Given the description of an element on the screen output the (x, y) to click on. 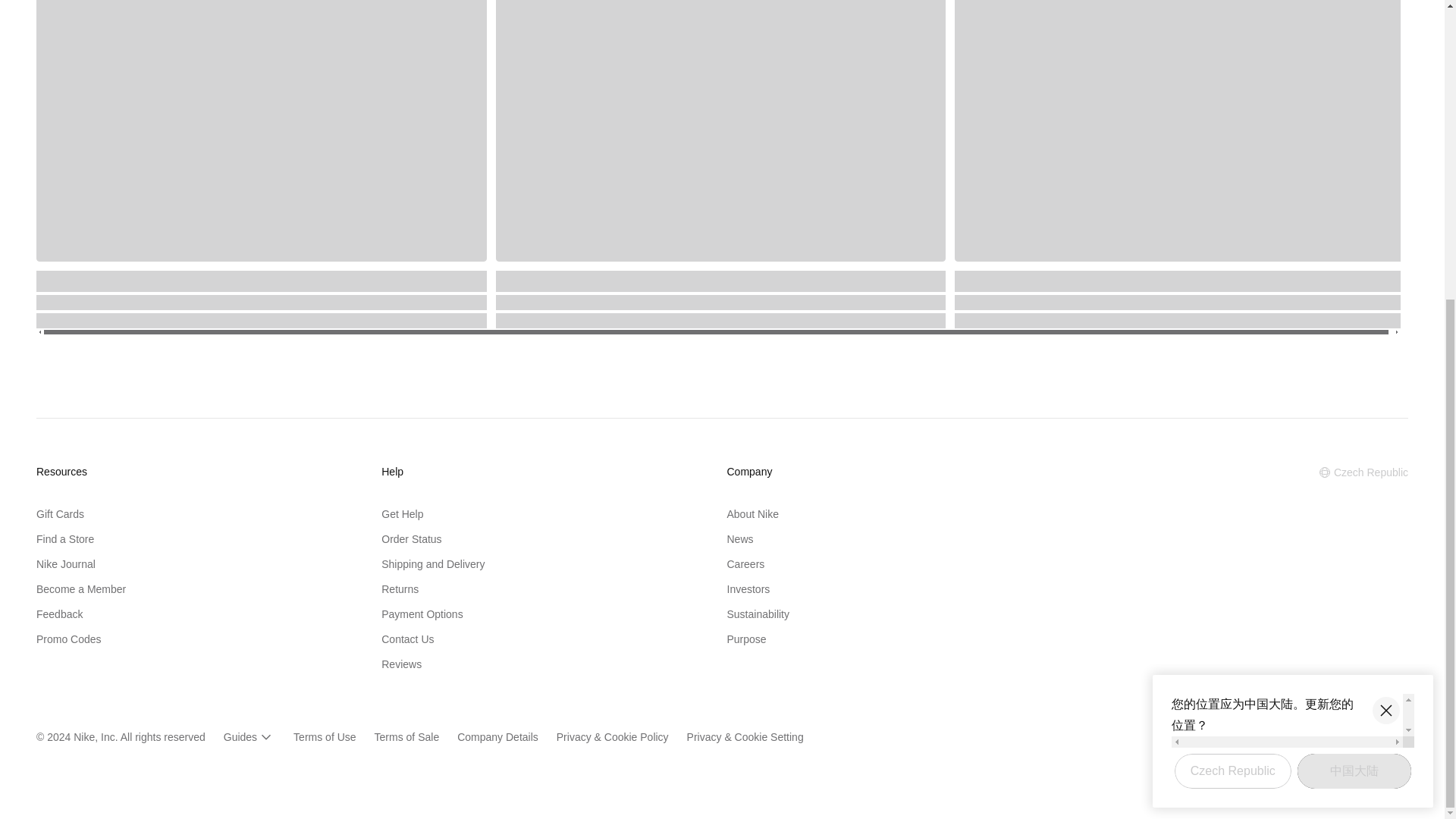
Selected Location: Czech Republic (1363, 472)
